Given the description of an element on the screen output the (x, y) to click on. 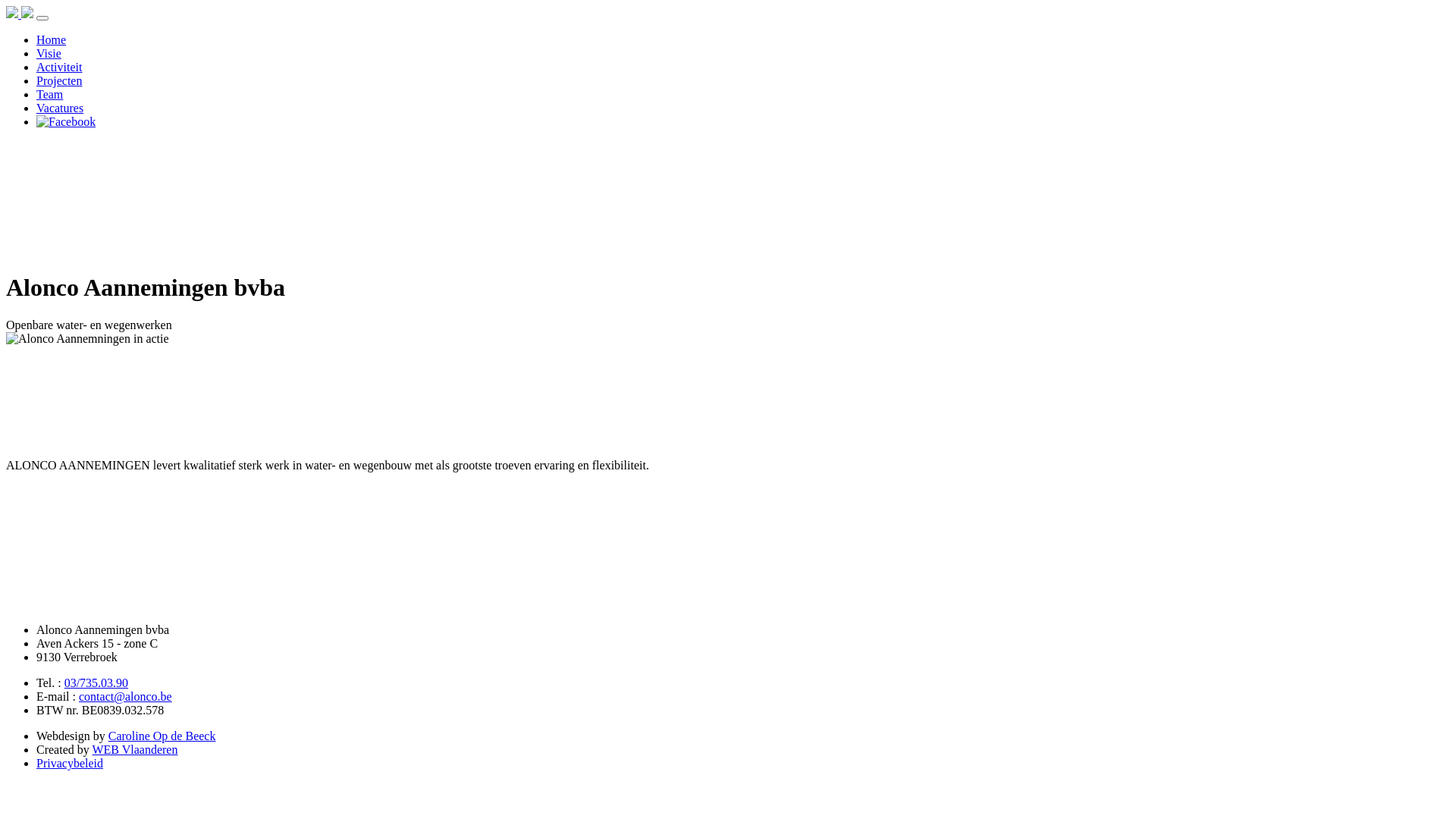
Home Element type: text (50, 39)
03/735.03.90 Element type: text (96, 682)
Visie Element type: text (48, 53)
Team Element type: text (49, 93)
Projecten Element type: text (58, 80)
contact@alonco.be Element type: text (125, 696)
Activiteit Element type: text (58, 66)
Caroline Op de Beeck Element type: text (162, 735)
Vacatures Element type: text (59, 107)
WEB Vlaanderen Element type: text (134, 749)
Privacybeleid Element type: text (69, 762)
